Given the description of an element on the screen output the (x, y) to click on. 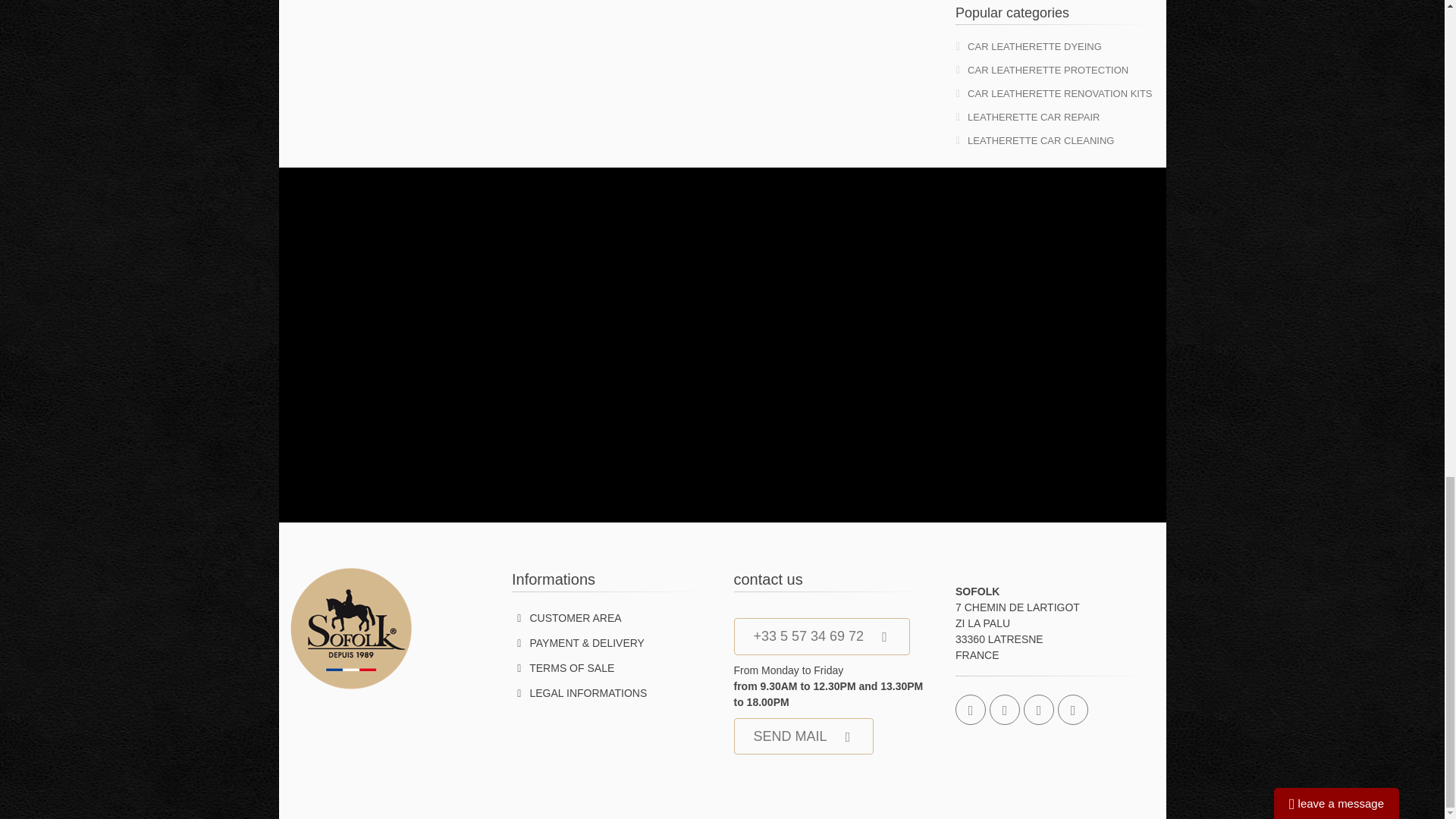
SOFOLK is on YouTube (1038, 709)
SOFOLK is on Instagram (1072, 709)
SOFOLK is on Pinterest (1005, 709)
SOFOLK is on Facebook (970, 709)
